Given the description of an element on the screen output the (x, y) to click on. 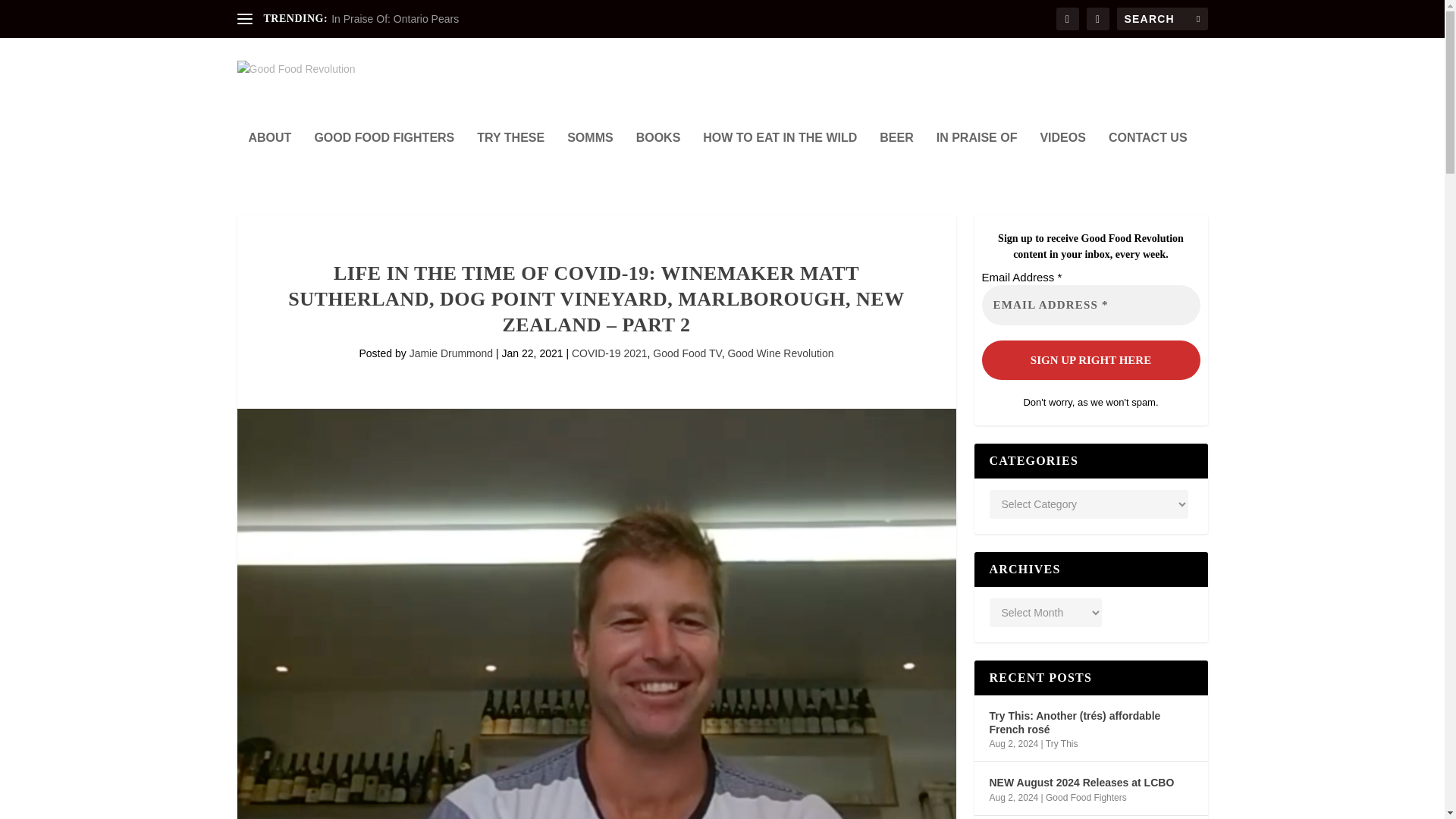
In Praise Of: Ontario Pears (394, 19)
HOW TO EAT IN THE WILD (780, 158)
IN PRAISE OF (976, 158)
GOOD FOOD FIGHTERS (384, 158)
COVID-19 2021 (609, 353)
Sign Up Right Here (1090, 359)
Jamie Drummond (451, 353)
Good Food TV (686, 353)
TRY THESE (510, 158)
Posts by Jamie Drummond (451, 353)
Search for: (1161, 18)
CONTACT US (1148, 158)
Good Wine Revolution (779, 353)
